Given the description of an element on the screen output the (x, y) to click on. 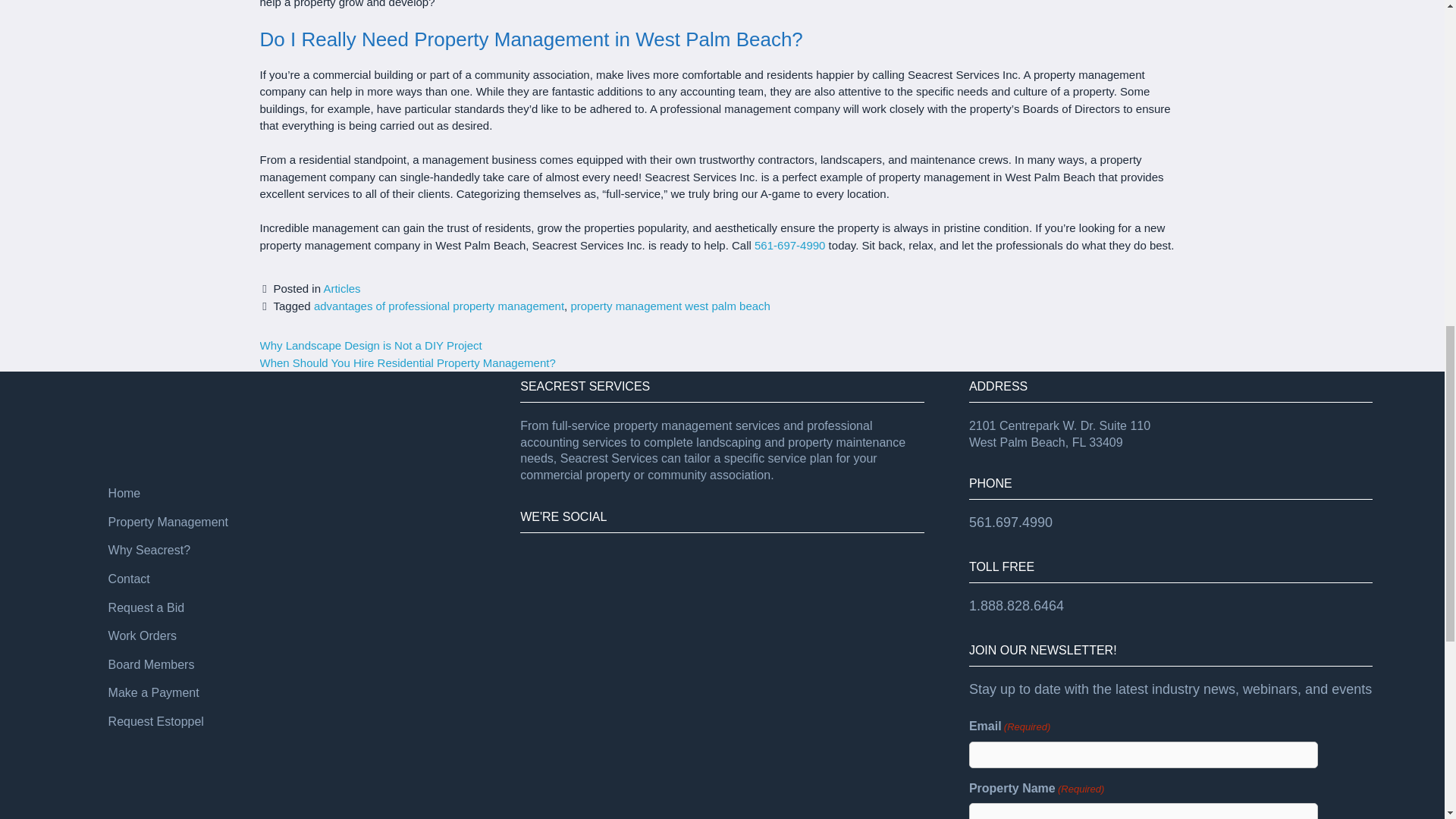
561-697-4990 (789, 245)
Why Landscape Design is Not a DIY Project (370, 345)
Home (124, 492)
advantages of professional property management (439, 305)
Articles (341, 287)
property management west palm beach (670, 305)
When Should You Hire Residential Property Management? (406, 362)
